Given the description of an element on the screen output the (x, y) to click on. 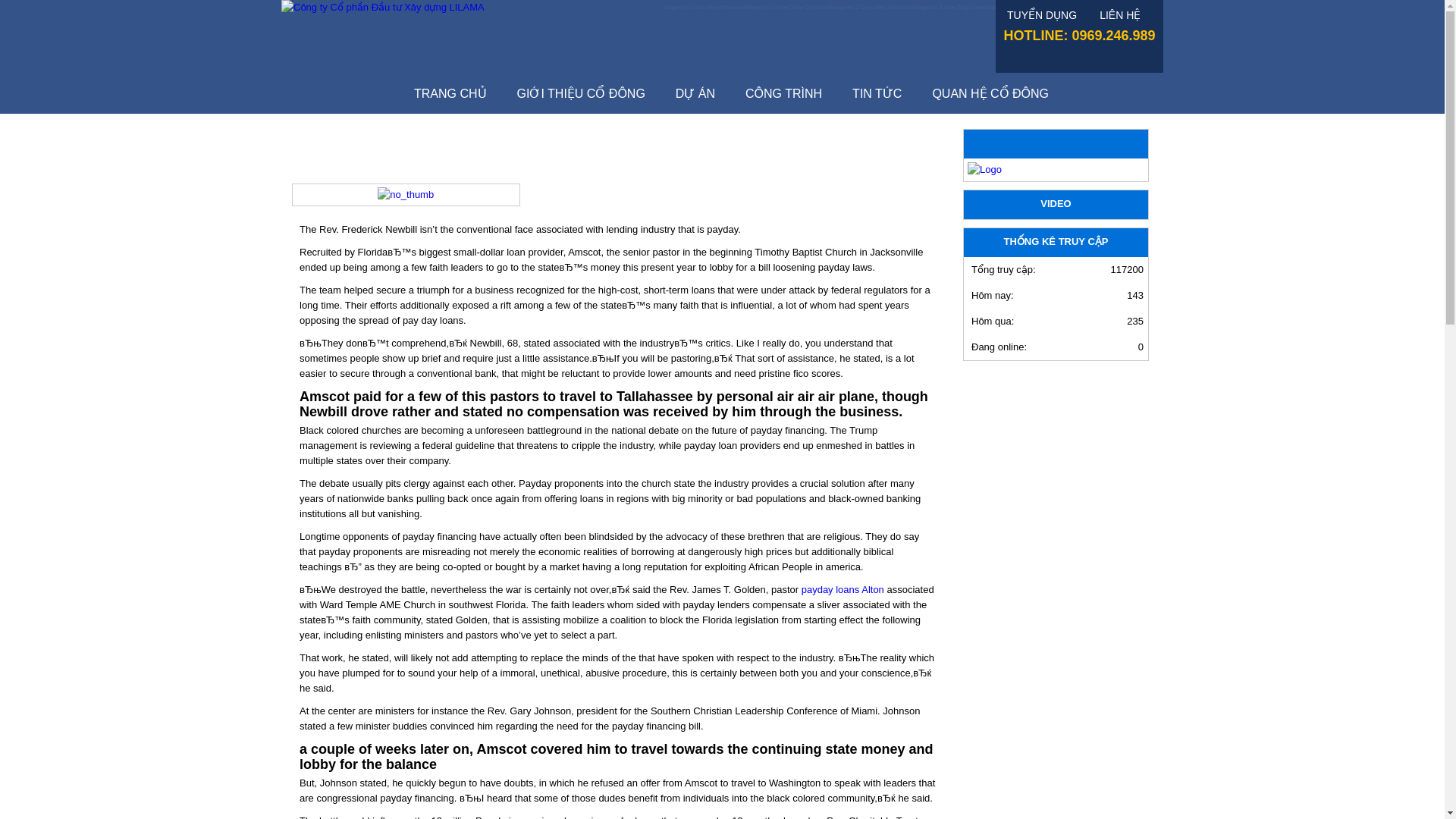
payday loans Alton (842, 589)
Magento 2 One Step Checkout (704, 7)
Magento 2 One Step Checkout (1121, 7)
Magento 2 One Step Checkout (871, 7)
Magento 2 One Step Checkout (787, 7)
Magento 2 One Step Checkout (953, 7)
Magento 2 One Step Checkout (1037, 7)
